Given the description of an element on the screen output the (x, y) to click on. 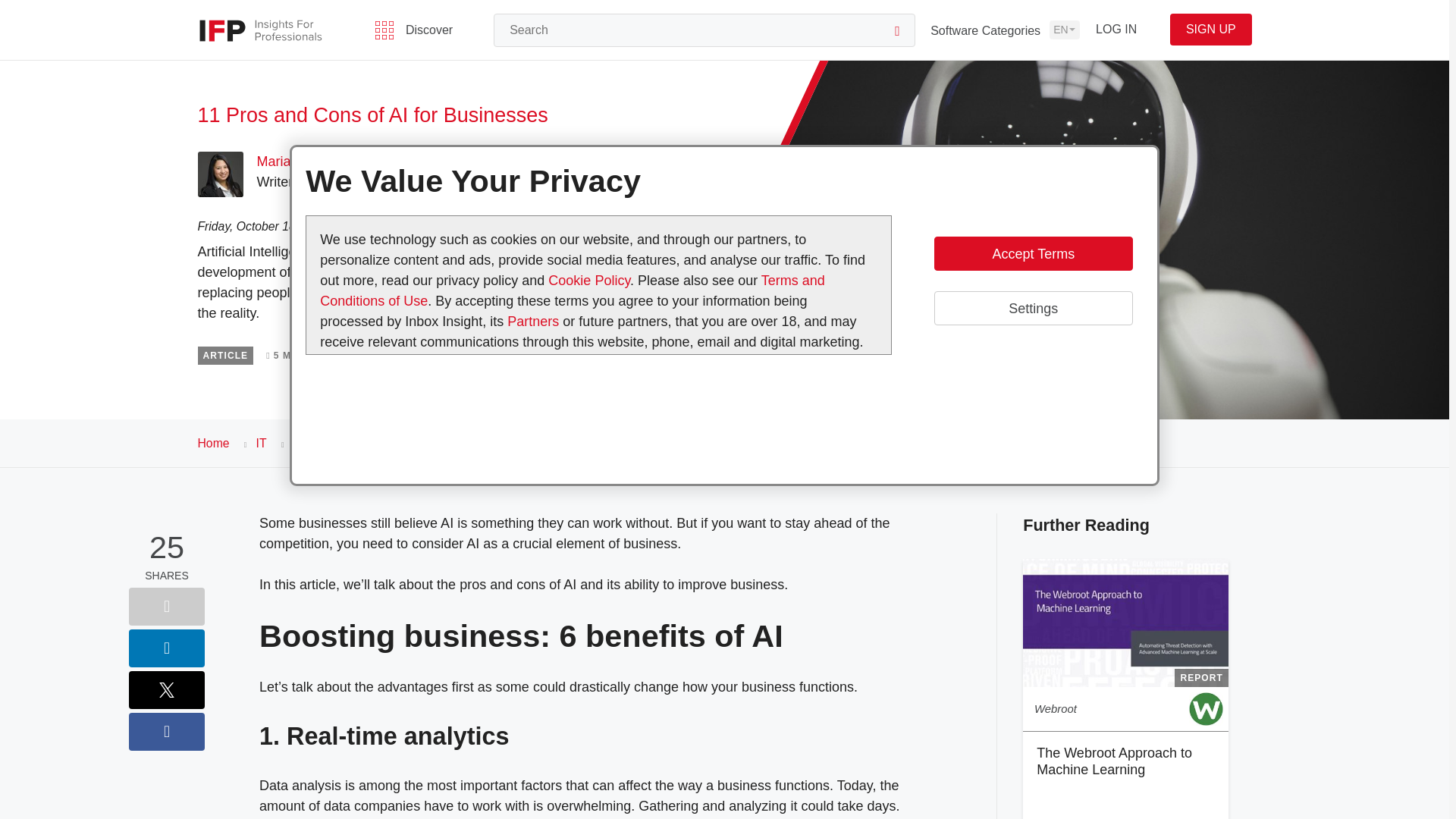
Accept Terms (1033, 253)
The Webroot Approach to Machine Learning (1114, 761)
LOG IN (1116, 29)
Share via LinkedIn (167, 648)
privacy policy (588, 372)
Software Categories (985, 30)
Settings (1033, 308)
Cookie Policy (589, 280)
Share via Twitter (167, 689)
Partners (534, 321)
Terms and Conditions of Use (572, 290)
SIGN UP (1210, 29)
Share via Facebook (167, 731)
Share via Email (167, 606)
